Given the description of an element on the screen output the (x, y) to click on. 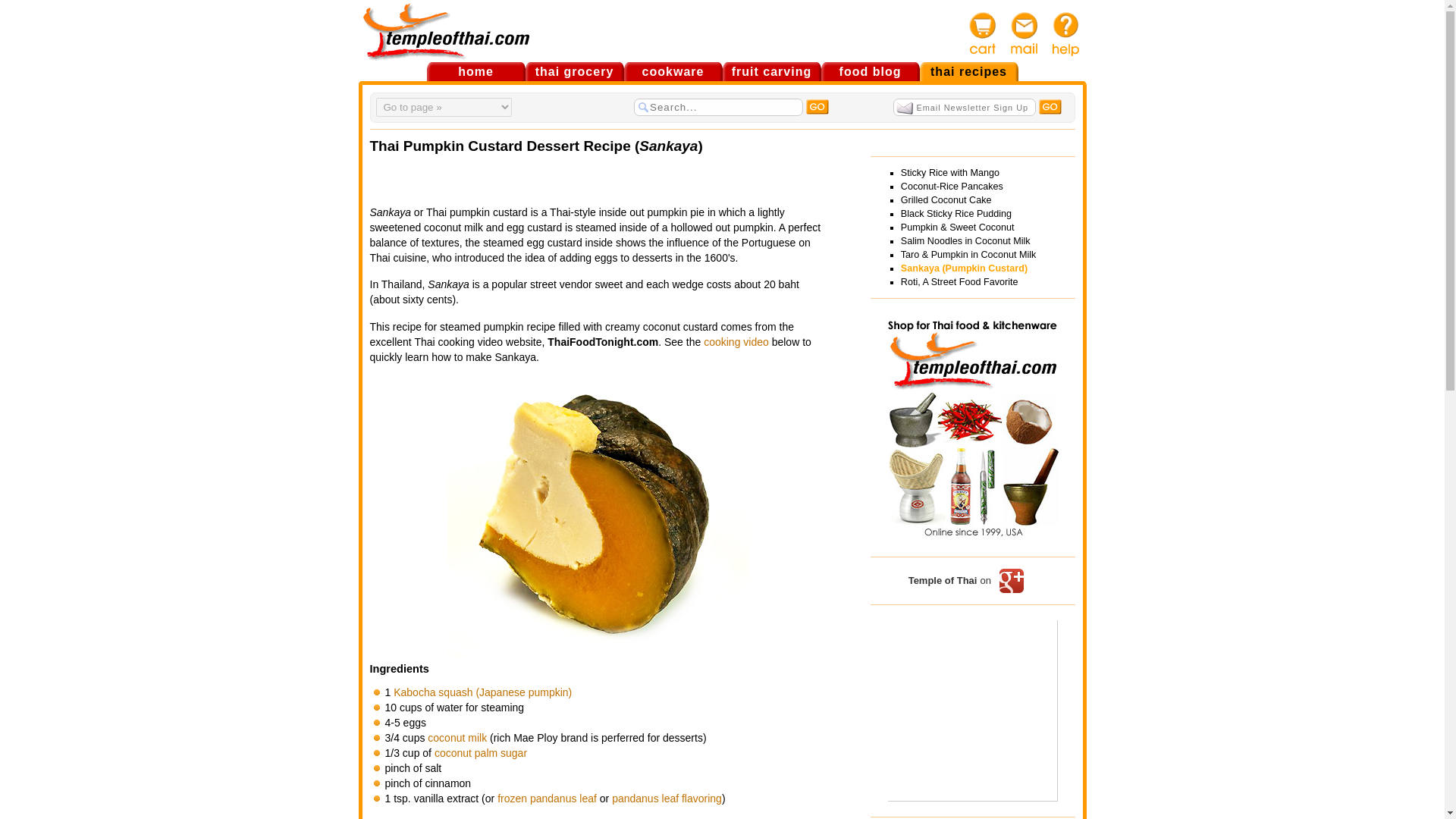
pandanus leaf flavoring (666, 798)
frozen pandanus leaf (546, 798)
Temple of Thai Home Page (475, 71)
thai grocery (573, 71)
cookware (672, 71)
coconut palm sugar (480, 752)
home (475, 71)
Essential Asian Kitchenware (672, 71)
coconut milk (457, 737)
Online Asian Grocery Store (573, 71)
